Given the description of an element on the screen output the (x, y) to click on. 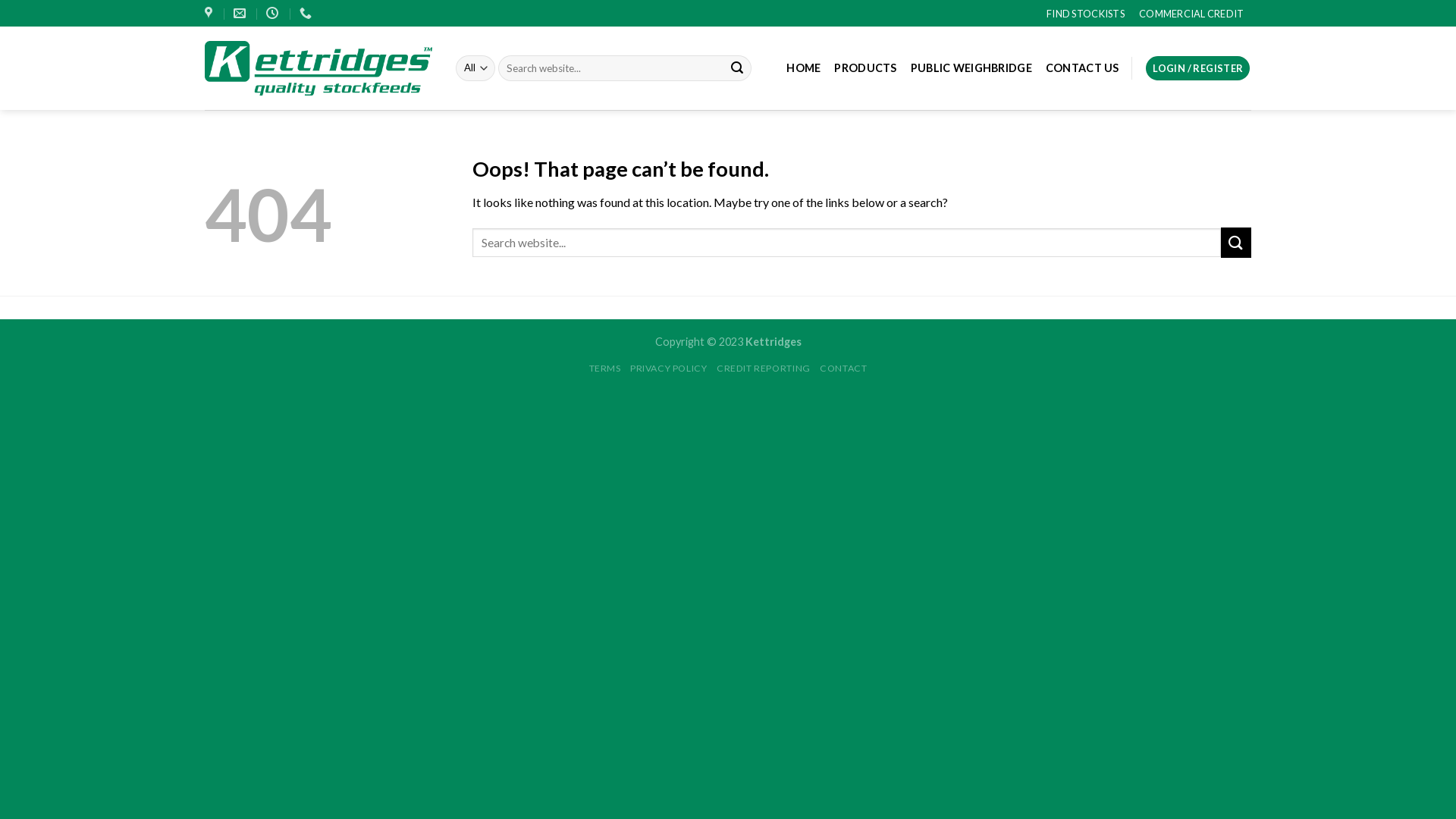
Monday to Friday 8am - 4pm  Element type: hover (274, 13)
TERMS Element type: text (605, 367)
Kettridges - Quality Stockfeeds Element type: hover (318, 68)
FIND STOCKISTS Element type: text (1085, 12)
COMMERCIAL CREDIT Element type: text (1191, 12)
Search Element type: text (736, 68)
HOME Element type: text (803, 67)
LOGIN / REGISTER Element type: text (1197, 68)
CONTACT Element type: text (842, 367)
Cnr Harris Rd and Golding Cres, Picton WA Element type: hover (210, 13)
PRIVACY POLICY Element type: text (668, 367)
CREDIT REPORTING Element type: text (763, 367)
kettridges@kettridges.com.au Element type: hover (241, 13)
CONTACT US Element type: text (1082, 67)
(08) 9724 6800 Element type: hover (307, 13)
PUBLIC WEIGHBRIDGE Element type: text (971, 67)
PRODUCTS Element type: text (865, 67)
